Given the description of an element on the screen output the (x, y) to click on. 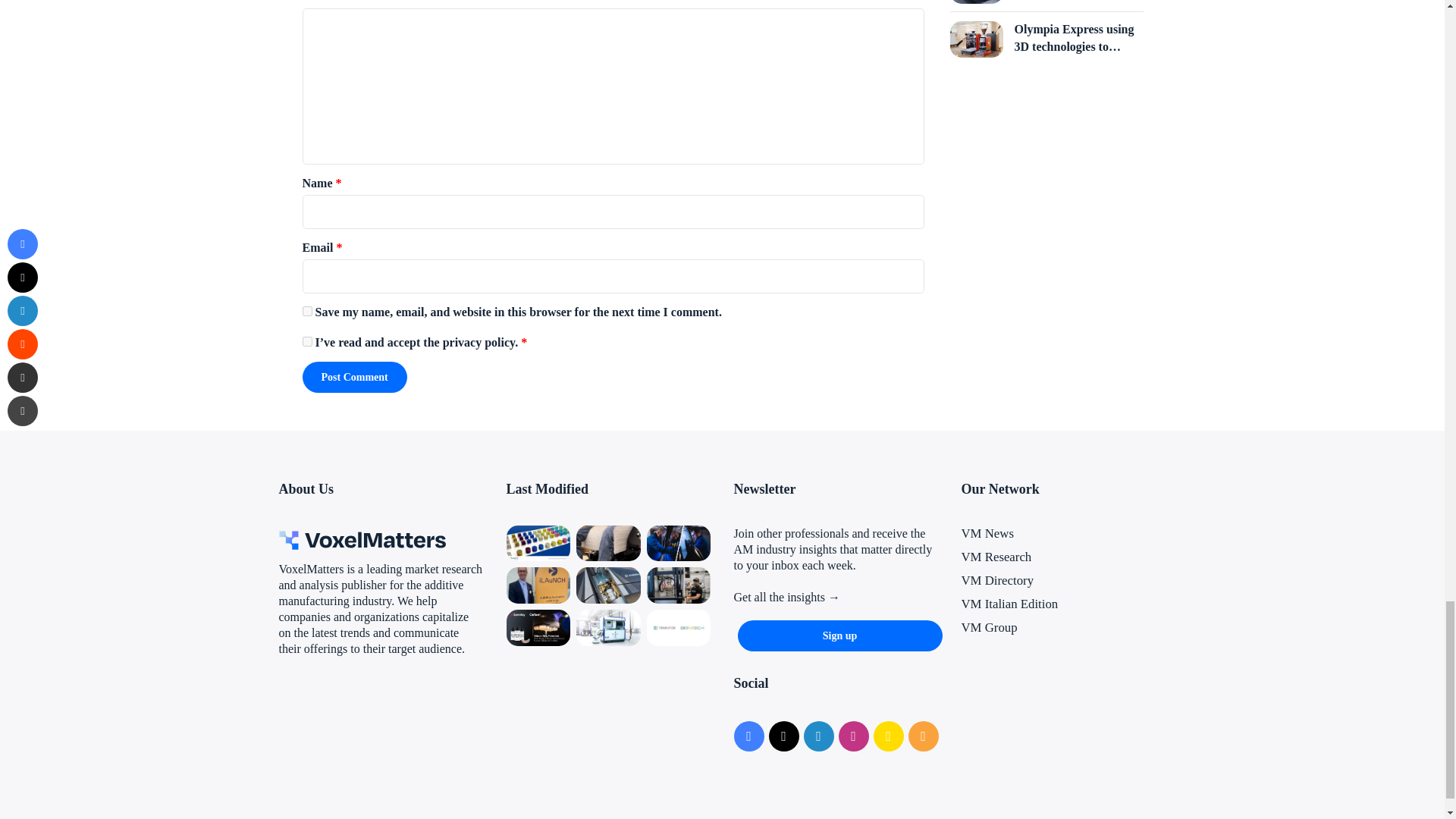
on (306, 341)
Sign up (839, 635)
yes (306, 311)
Post Comment (353, 377)
